Given the description of an element on the screen output the (x, y) to click on. 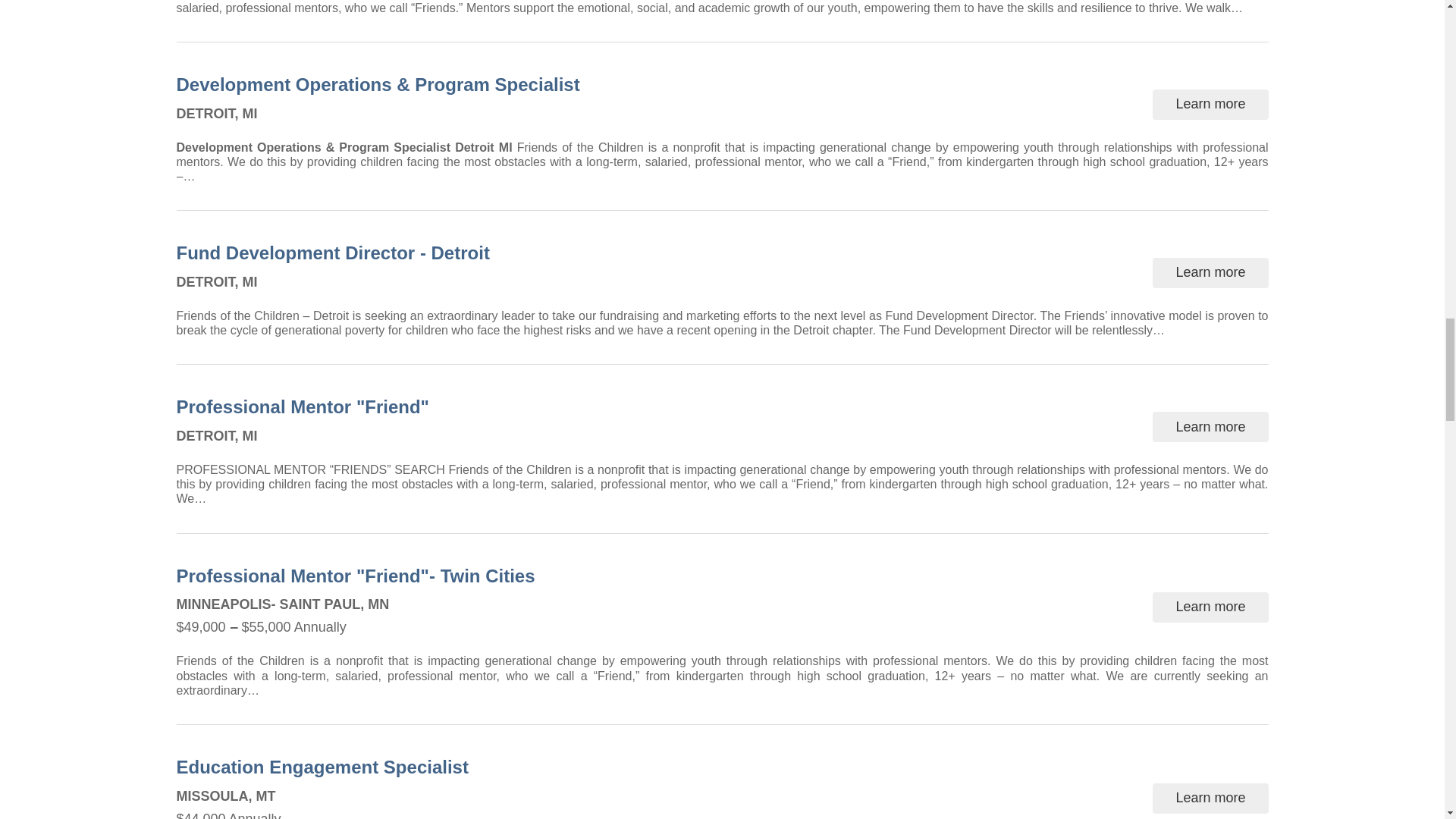
Learn more (1210, 104)
Education Engagement Specialist (328, 767)
Learn more (1210, 272)
Professional Mentor "Friend"- Twin Cities (361, 576)
Learn more (1210, 426)
Fund Development Director - Detroit (338, 253)
Learn more (1210, 798)
Professional Mentor "Friend" (308, 407)
Learn more (1210, 607)
